Given the description of an element on the screen output the (x, y) to click on. 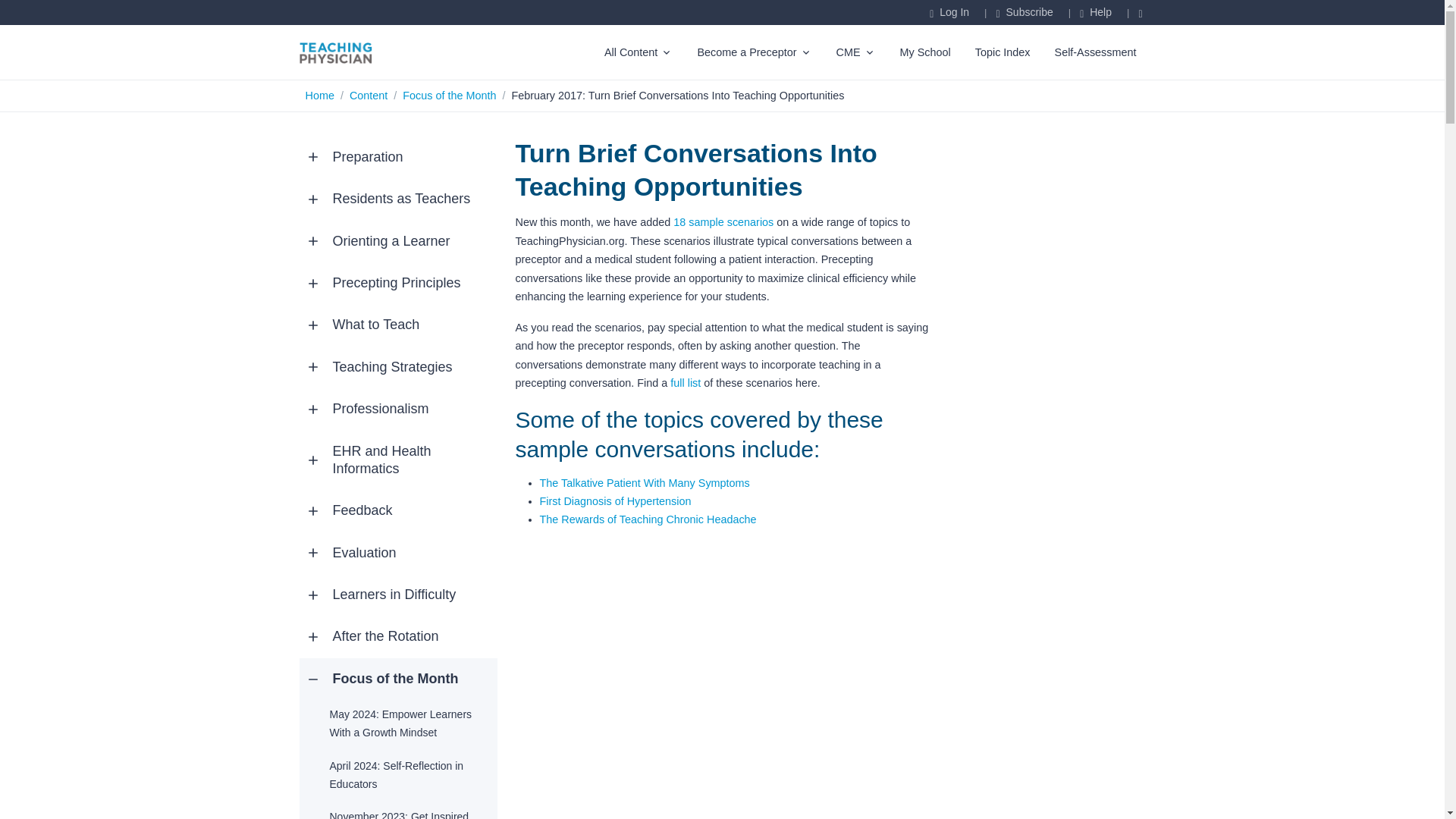
All Content (638, 52)
Precepting Scenarios (722, 222)
Help (1096, 13)
Become a Preceptor (754, 52)
CME (856, 52)
Log In (949, 13)
Subscribe (1023, 13)
